Given the description of an element on the screen output the (x, y) to click on. 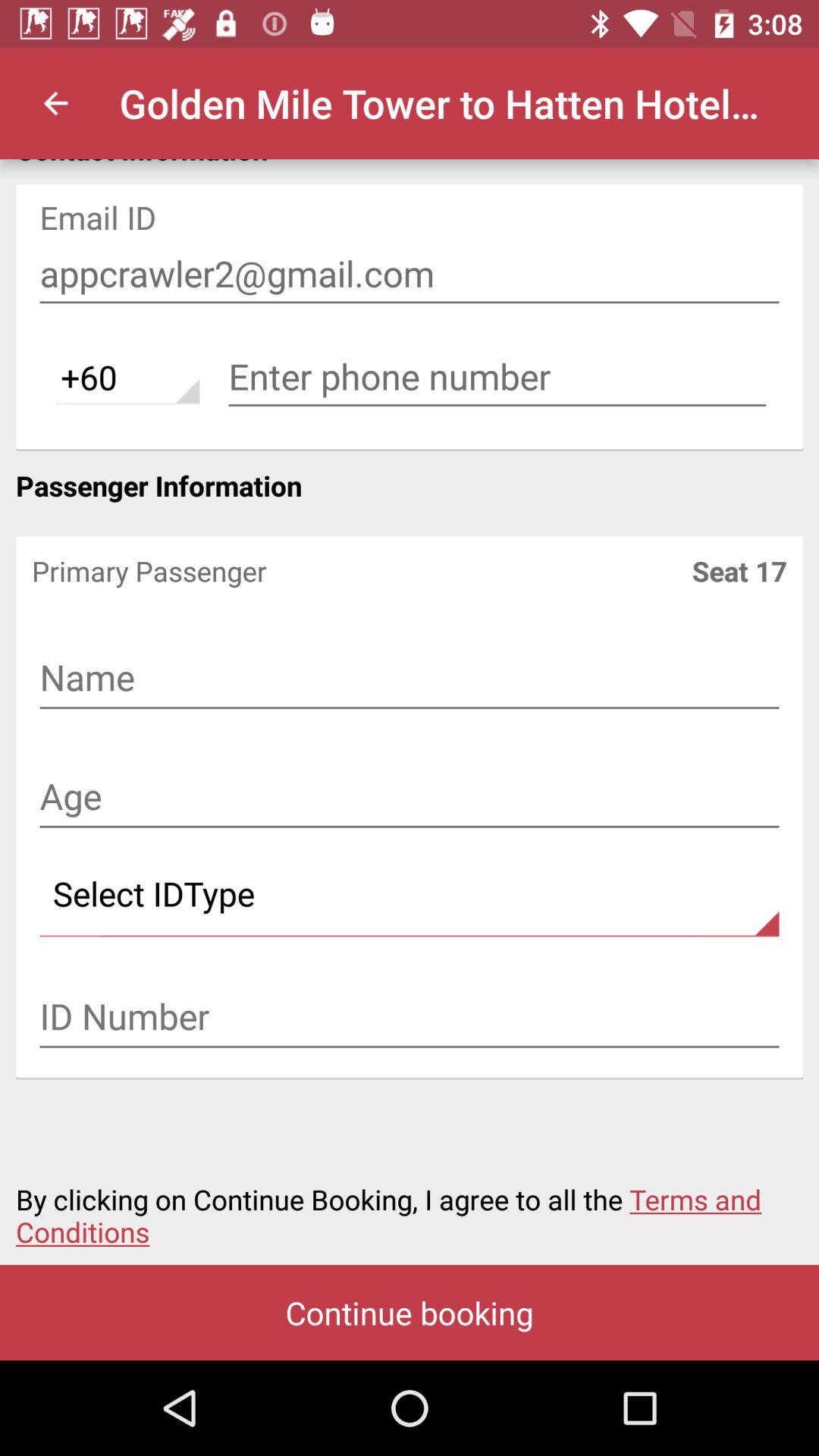
click item below the contact information icon (409, 274)
